Given the description of an element on the screen output the (x, y) to click on. 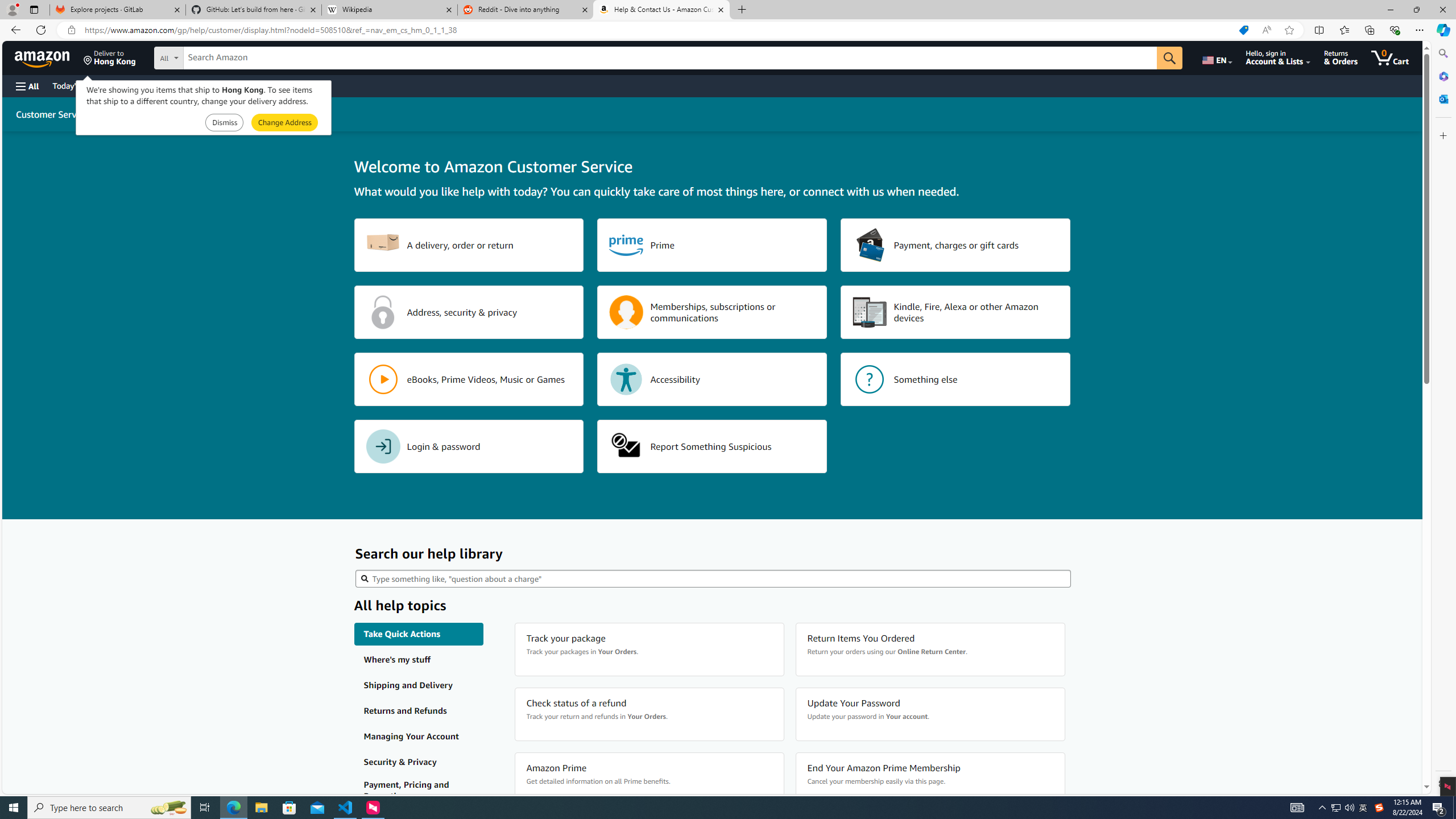
Prime (711, 244)
0 items in cart (1389, 57)
Wikipedia (390, 9)
